Given the description of an element on the screen output the (x, y) to click on. 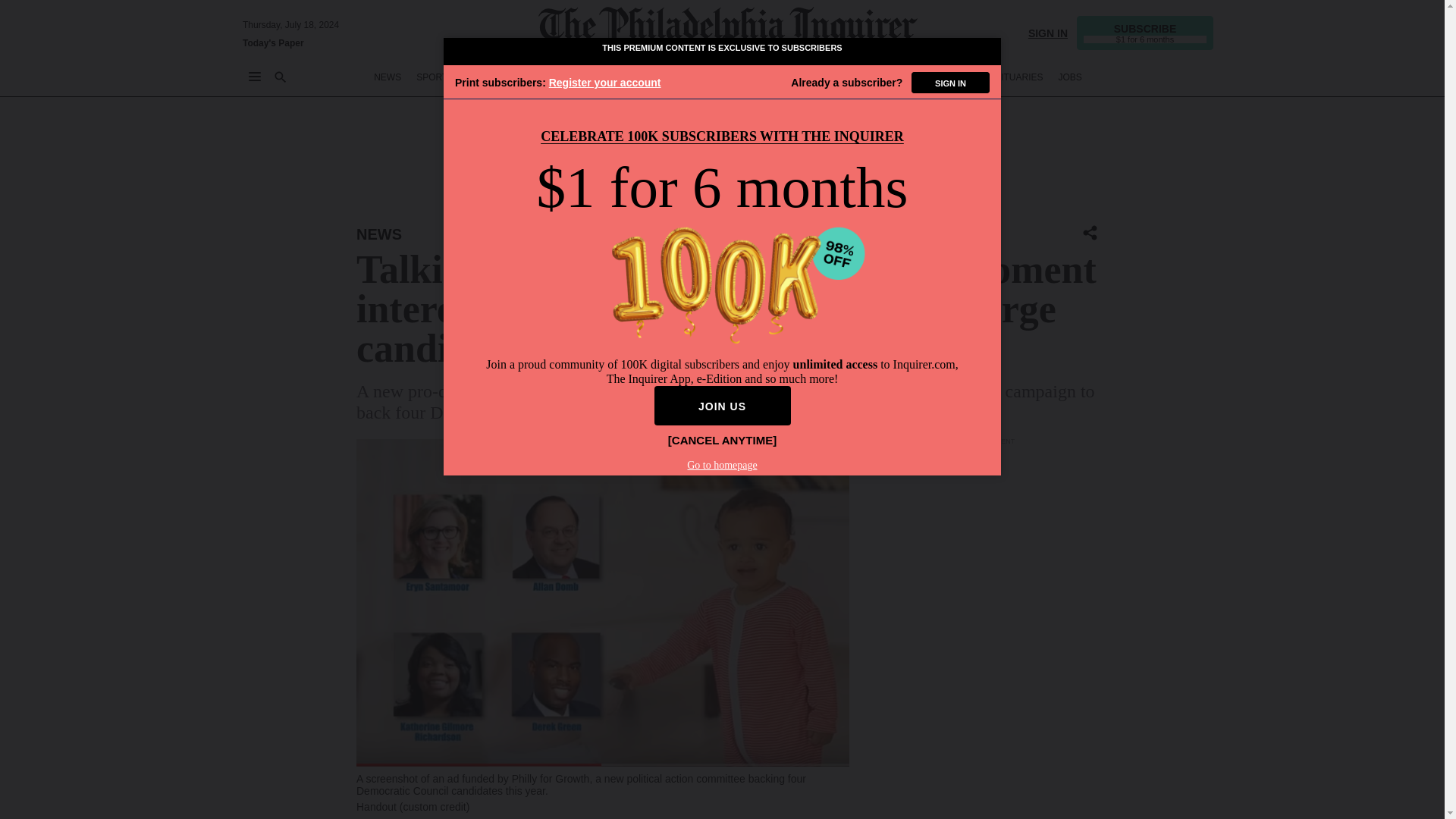
NEWS (378, 234)
Share Icon (1090, 233)
Share Icon (1090, 232)
ENTERTAINMENT (732, 77)
OBITUARIES (1015, 77)
LIFE (795, 77)
BETTING (488, 77)
NEWS (387, 77)
OPINION (604, 77)
POLITICS (659, 77)
FOOD (834, 77)
Today's Paper (273, 42)
SIGN IN (1047, 32)
SPORTS (434, 77)
HEALTH (878, 77)
